Given the description of an element on the screen output the (x, y) to click on. 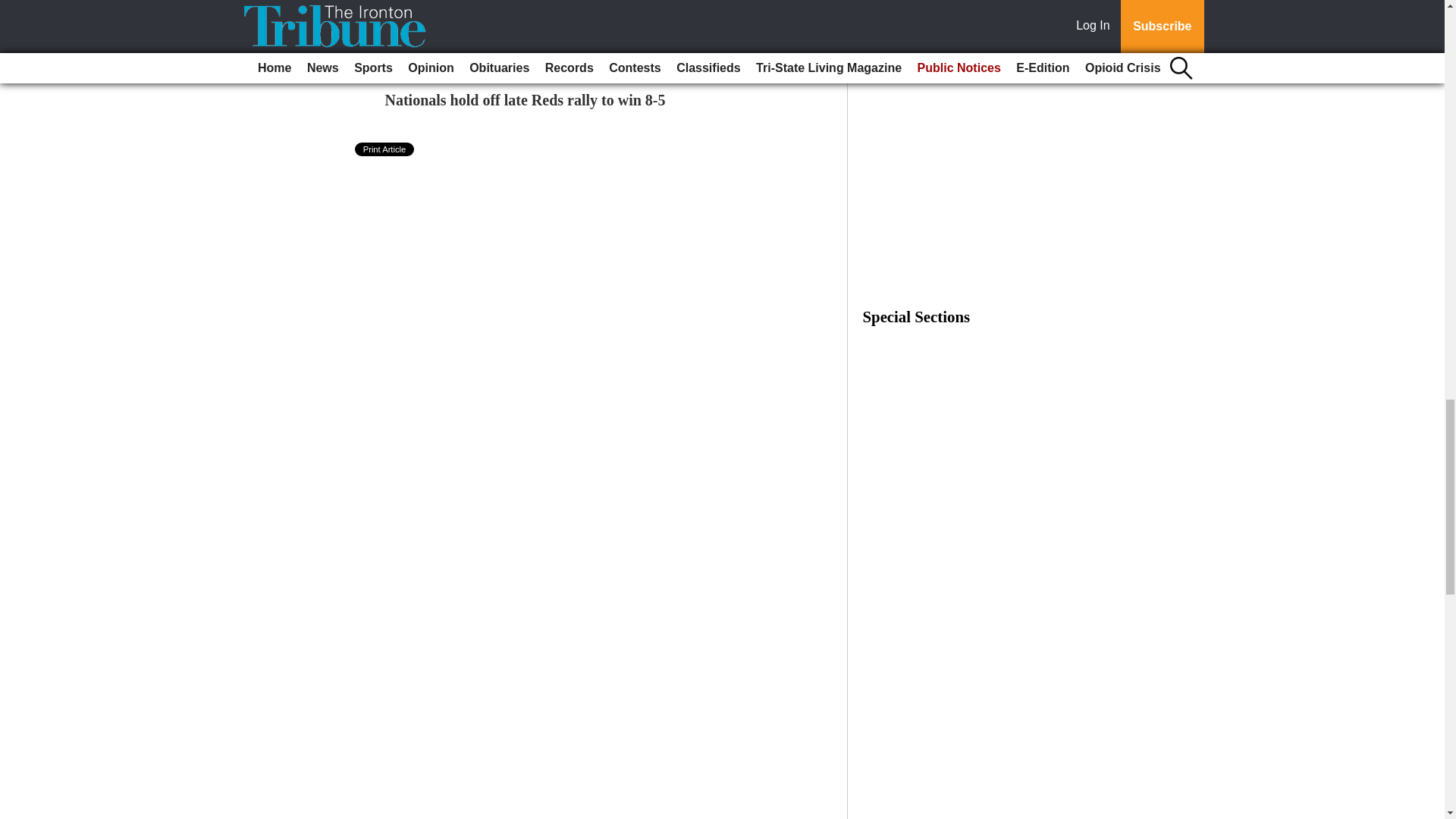
Nationals hold off late Reds rally to win 8-5 (525, 99)
Nationals beat Reds 5-2 for 3-game sweep (519, 2)
Nationals hold off late Reds rally to win 8-5 (525, 99)
Nationals beat Reds 5-2 for 3-game sweep (519, 2)
Print Article (384, 149)
